Given the description of an element on the screen output the (x, y) to click on. 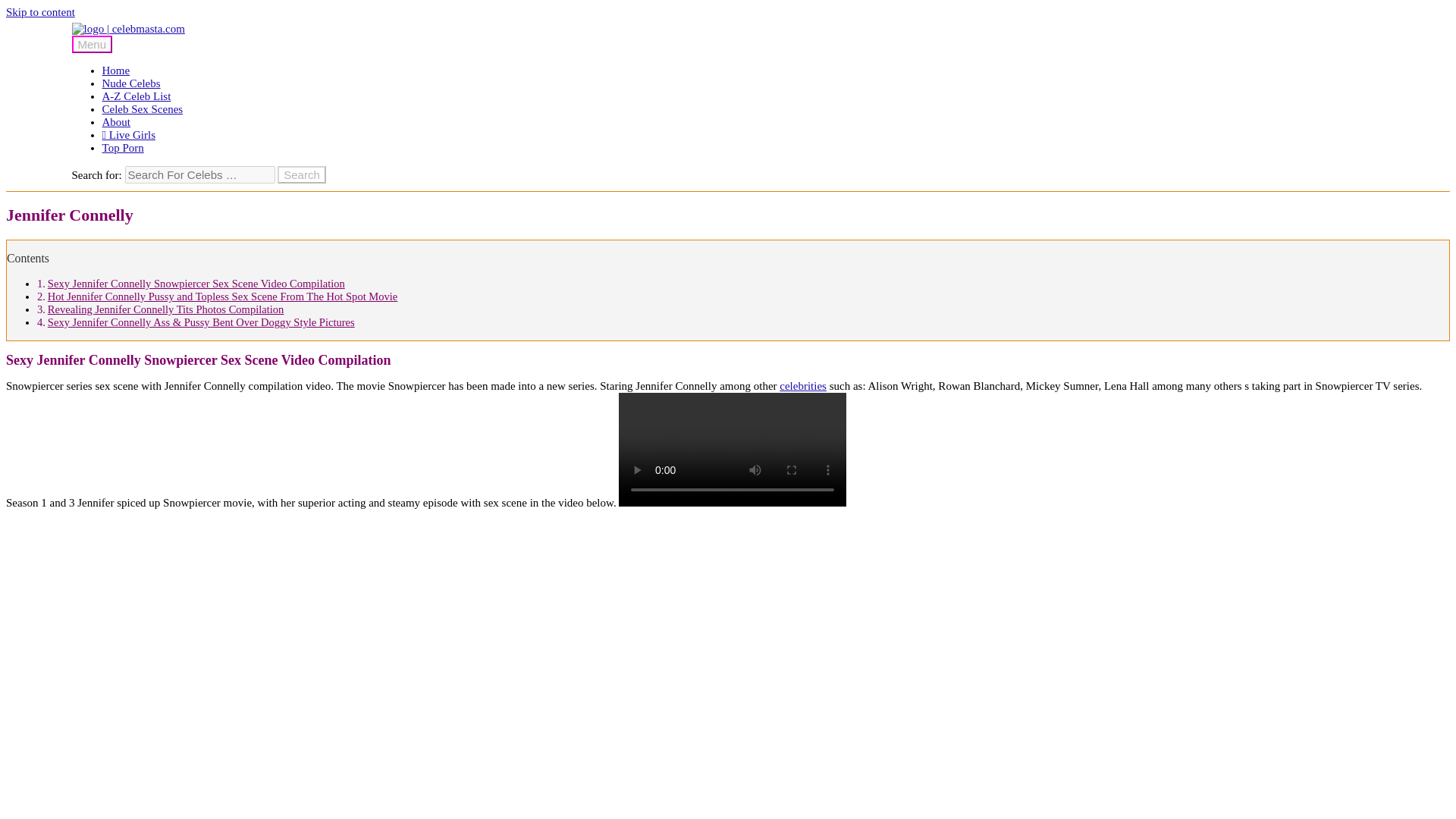
Skip to content (40, 11)
Celeb Sex Scenes (142, 109)
Revealing Jennifer Connelly Tits Photos Compilation (165, 309)
About (116, 121)
A-Z Celeb List (136, 96)
Home (116, 70)
celebrities (802, 386)
Menu (92, 44)
Search (302, 174)
